Given the description of an element on the screen output the (x, y) to click on. 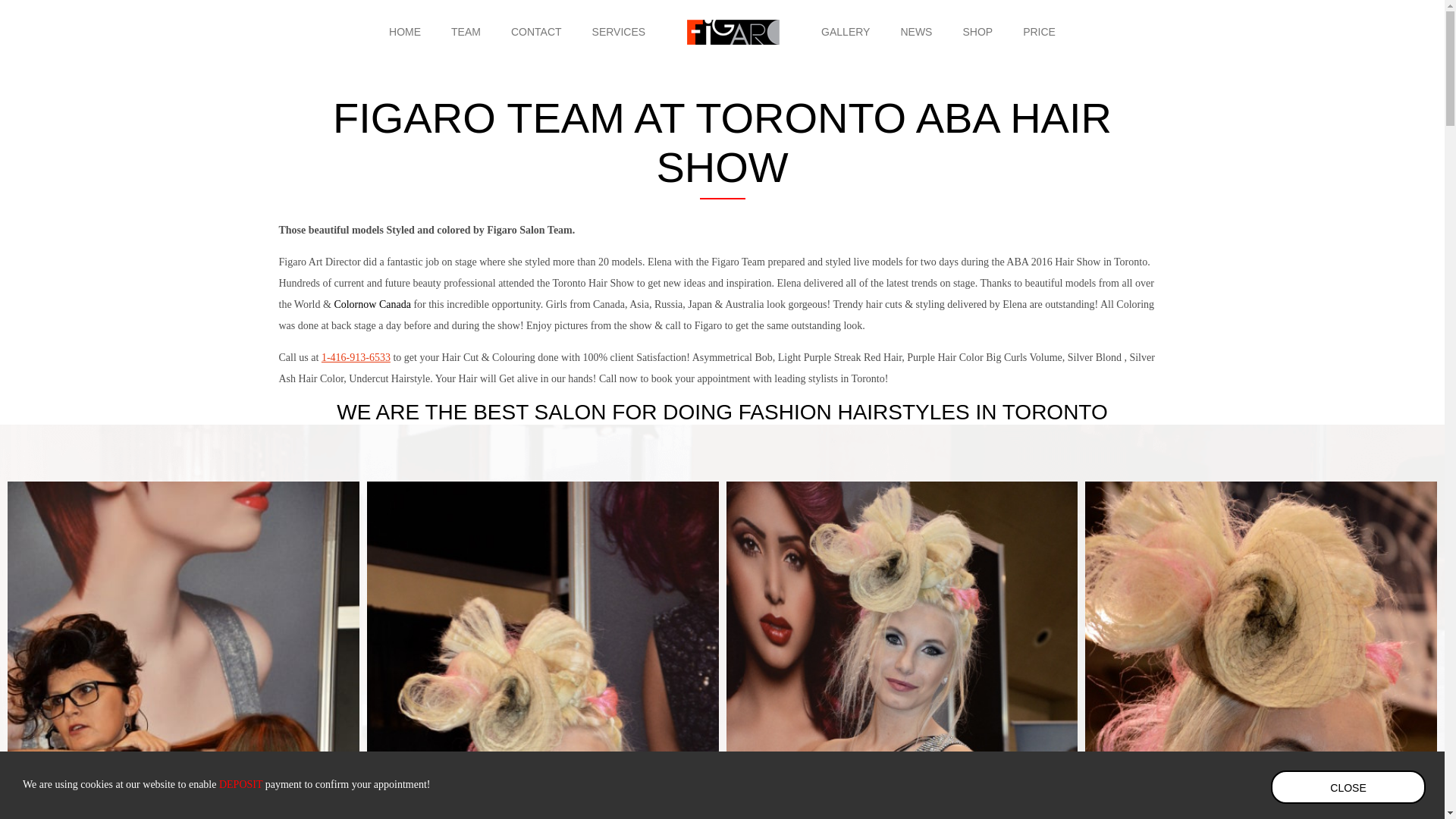
CONTACT (536, 31)
DEPOSIT (240, 784)
GALLERY (845, 31)
1-416-913-6533 (355, 357)
SERVICES (619, 31)
CLOSE (1348, 786)
Colornow Canada (371, 304)
